Given the description of an element on the screen output the (x, y) to click on. 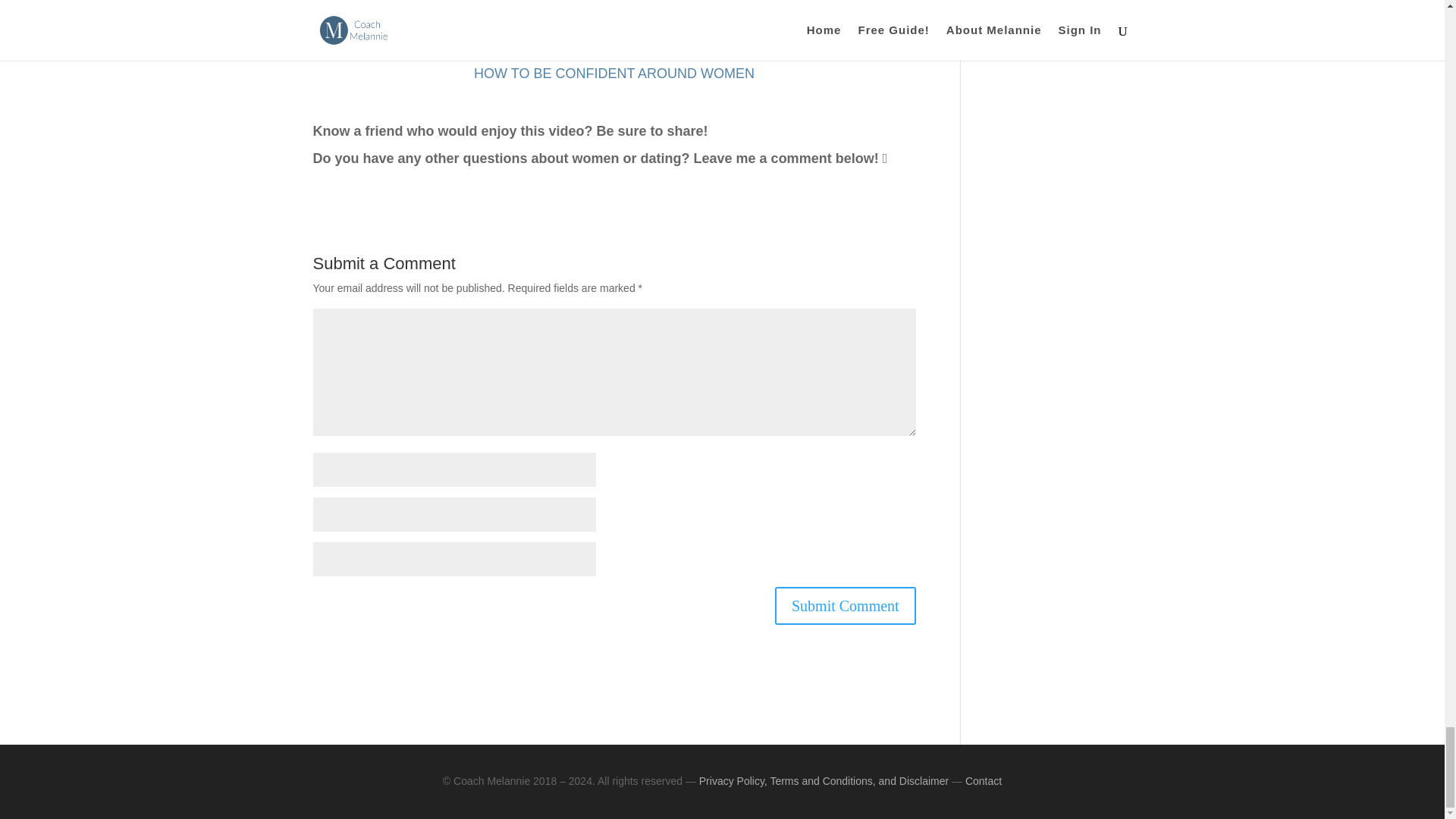
Privacy Policy, Terms and Conditions, and Disclaimer (823, 780)
Submit Comment (844, 605)
Submit Comment (844, 605)
Contact (983, 780)
HOW TO BE ATTRACTIVE TO WOMEN (614, 9)
HOW TO BE CONFIDENT AROUND WOMEN (614, 73)
